Given the description of an element on the screen output the (x, y) to click on. 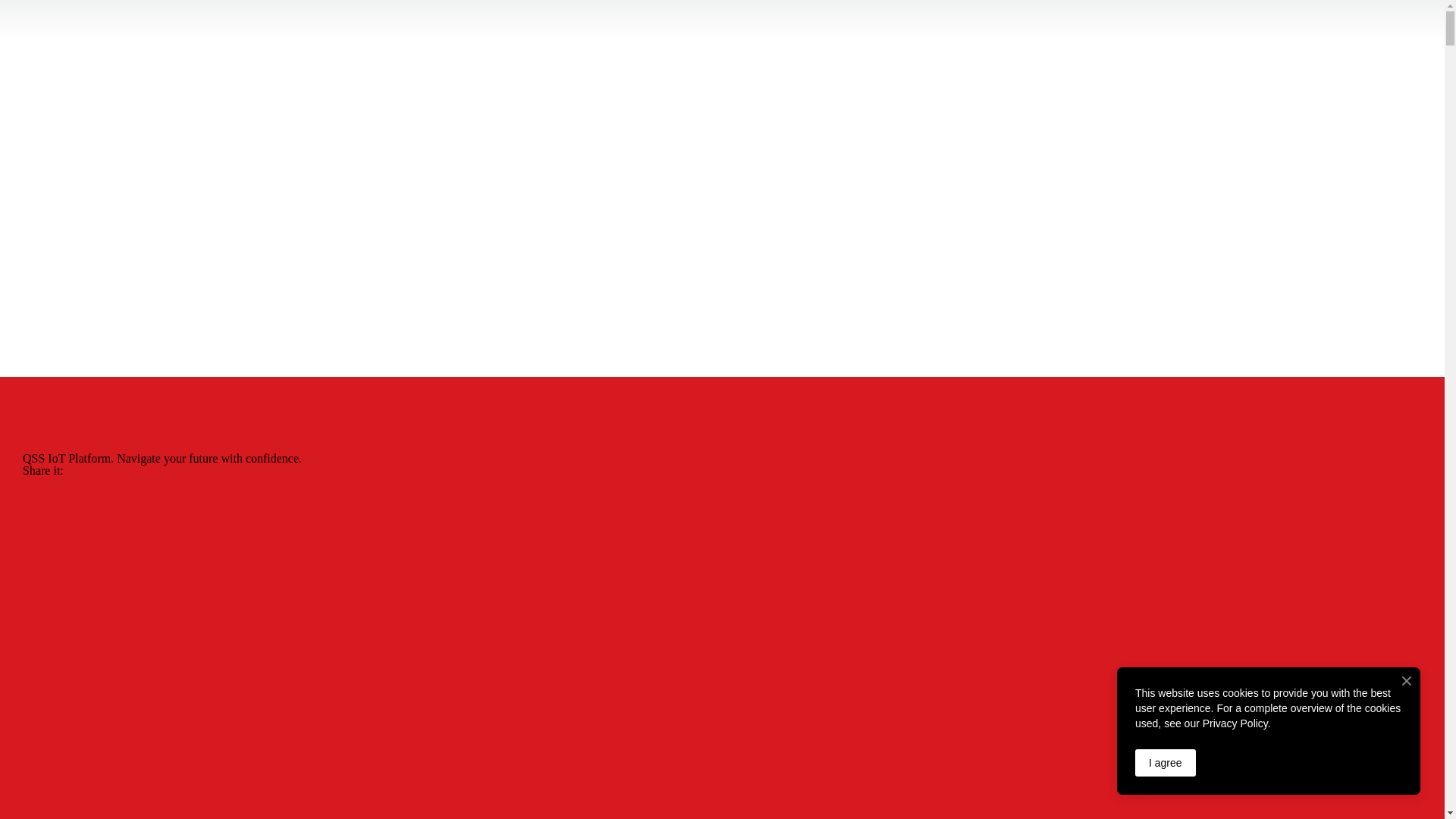
I agree Element type: text (1165, 762)
